Given the description of an element on the screen output the (x, y) to click on. 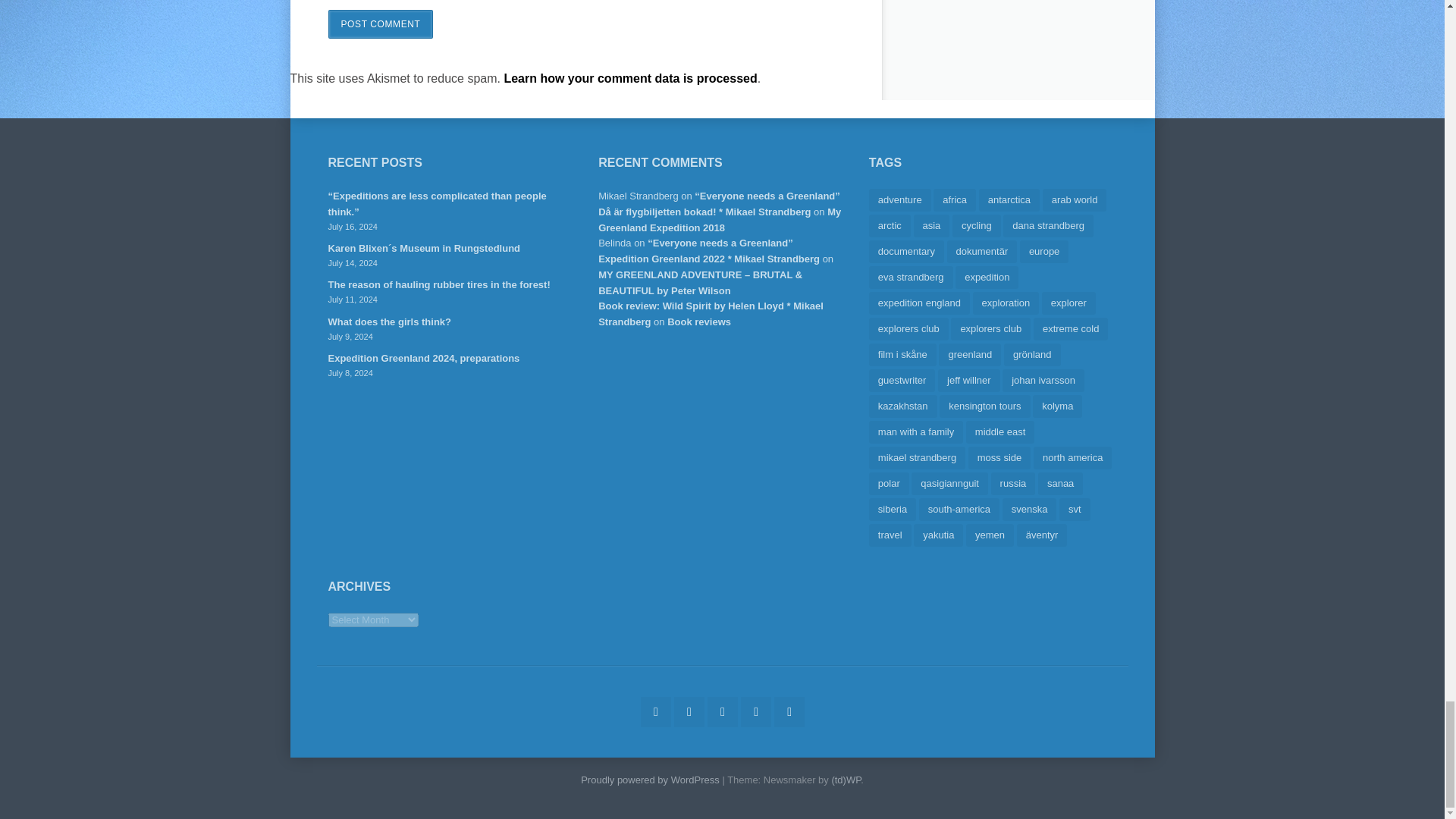
Post Comment (379, 23)
